Given the description of an element on the screen output the (x, y) to click on. 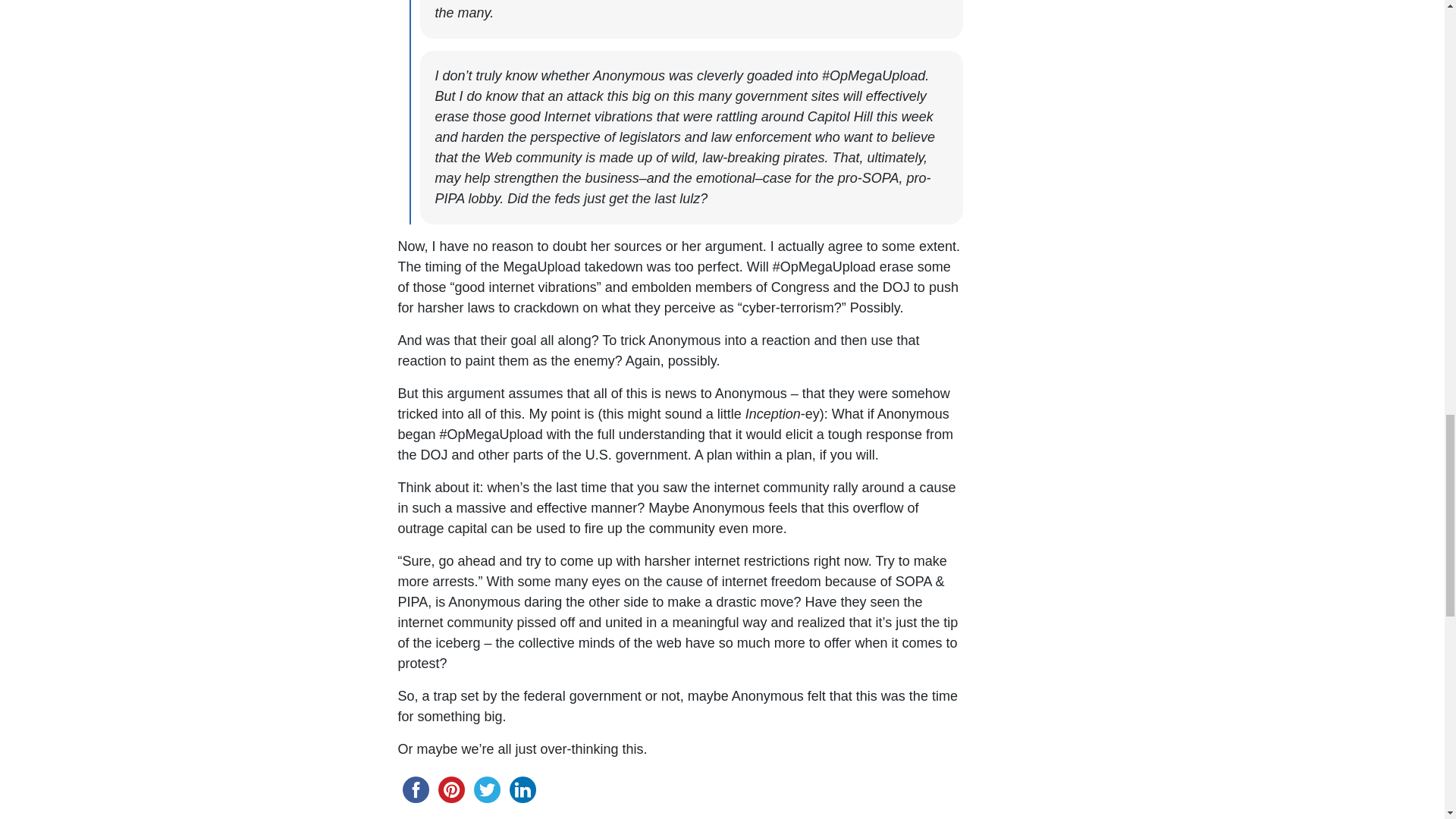
facebook (414, 789)
pinterest (450, 789)
twitter (485, 789)
